Given the description of an element on the screen output the (x, y) to click on. 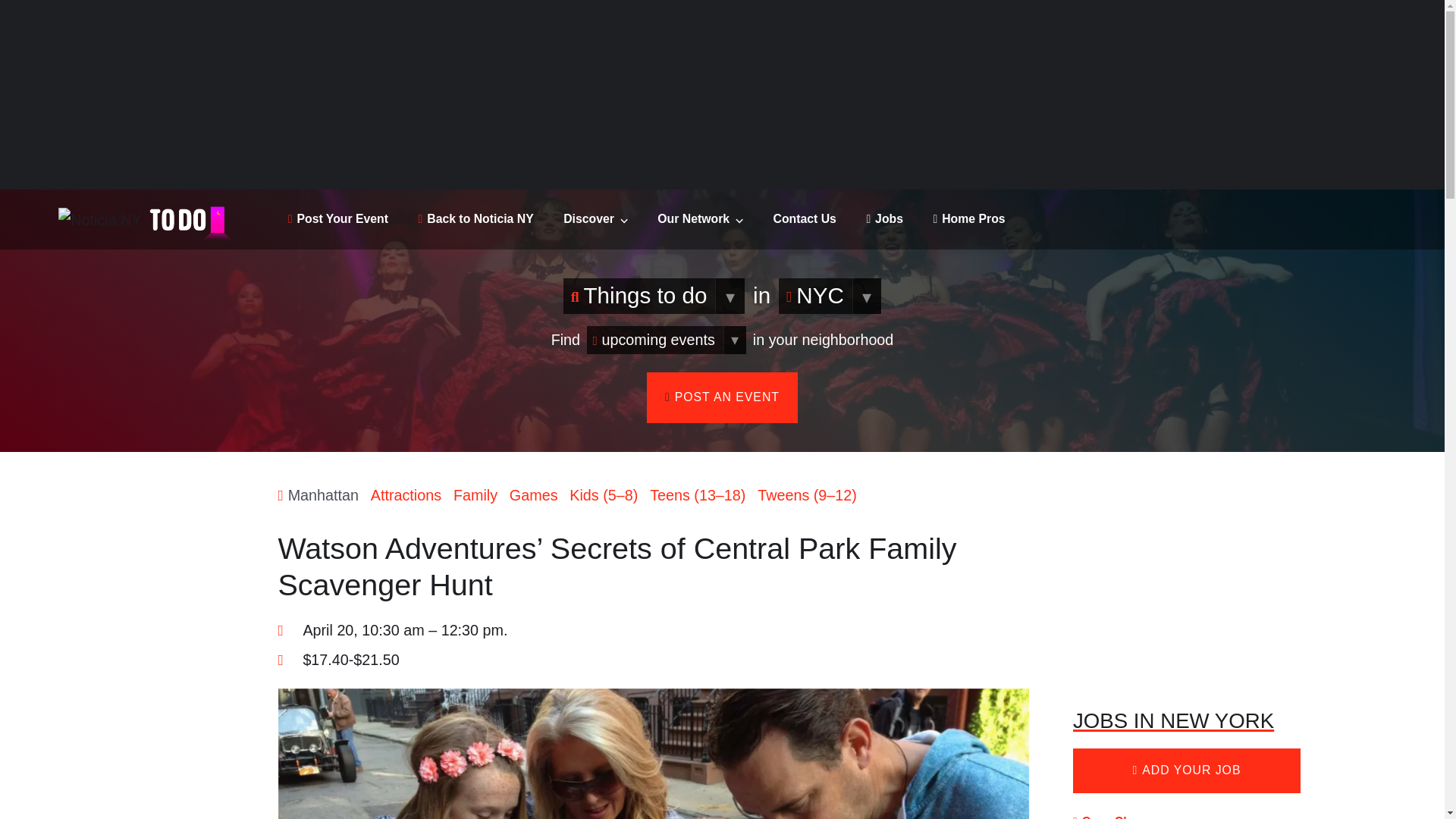
Post Your Event (338, 218)
Home Pros (968, 218)
Discover (595, 218)
Contact Us (804, 218)
Jobs (884, 218)
Back to Noticia NY (476, 218)
Our Network (700, 218)
